Given the description of an element on the screen output the (x, y) to click on. 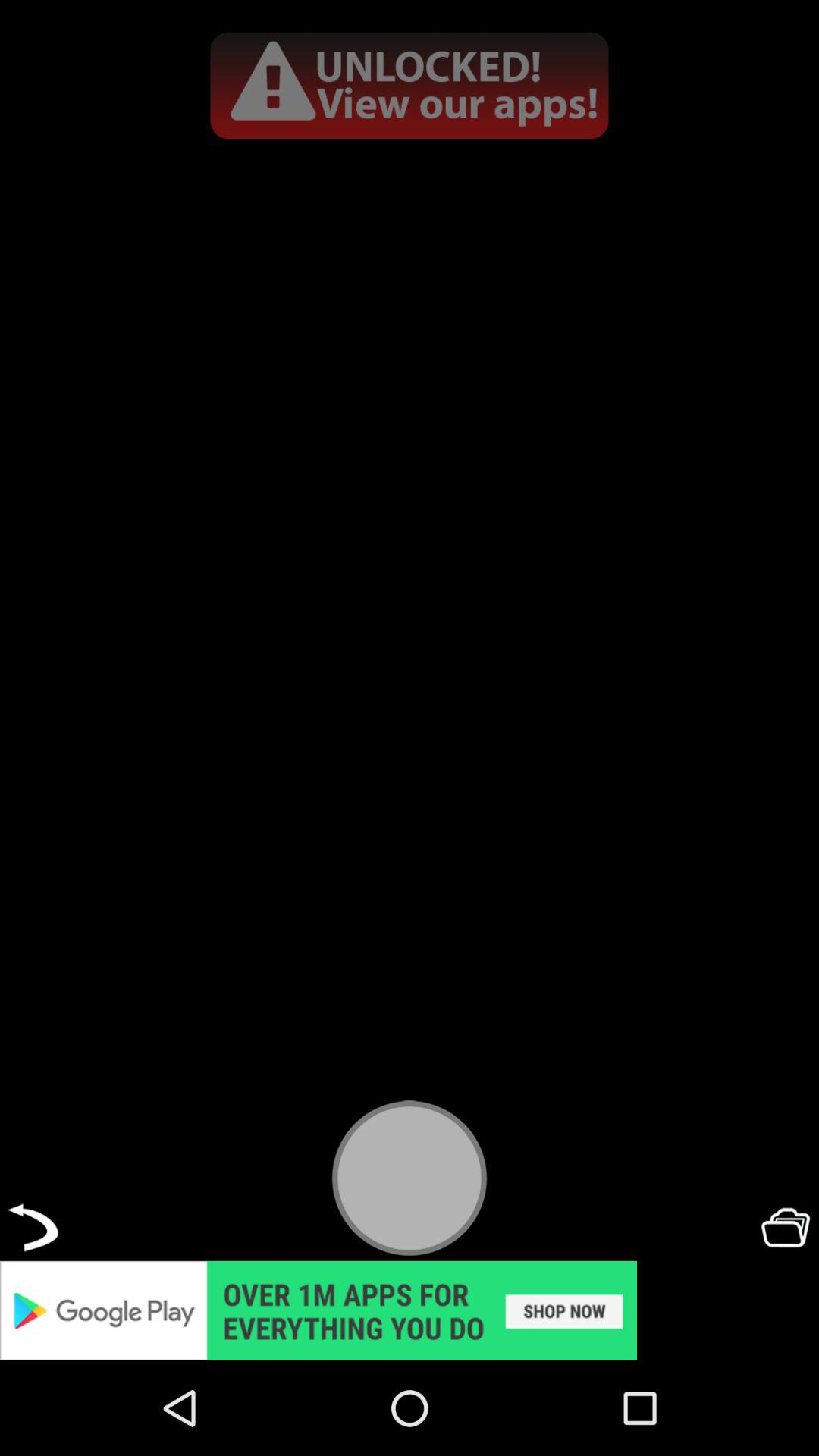
unlocked (409, 1310)
